Given the description of an element on the screen output the (x, y) to click on. 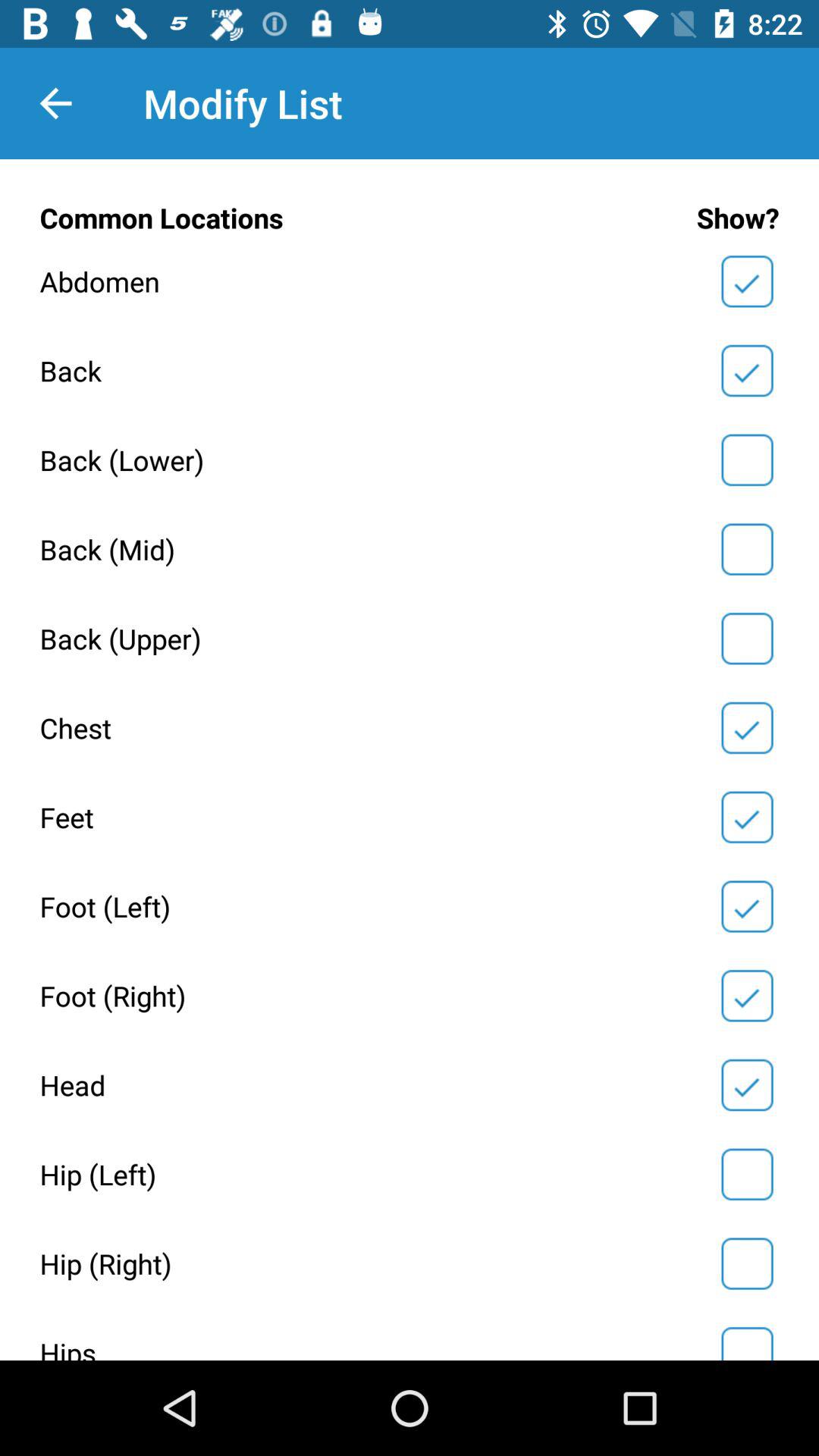
yes/no selection box (747, 817)
